Given the description of an element on the screen output the (x, y) to click on. 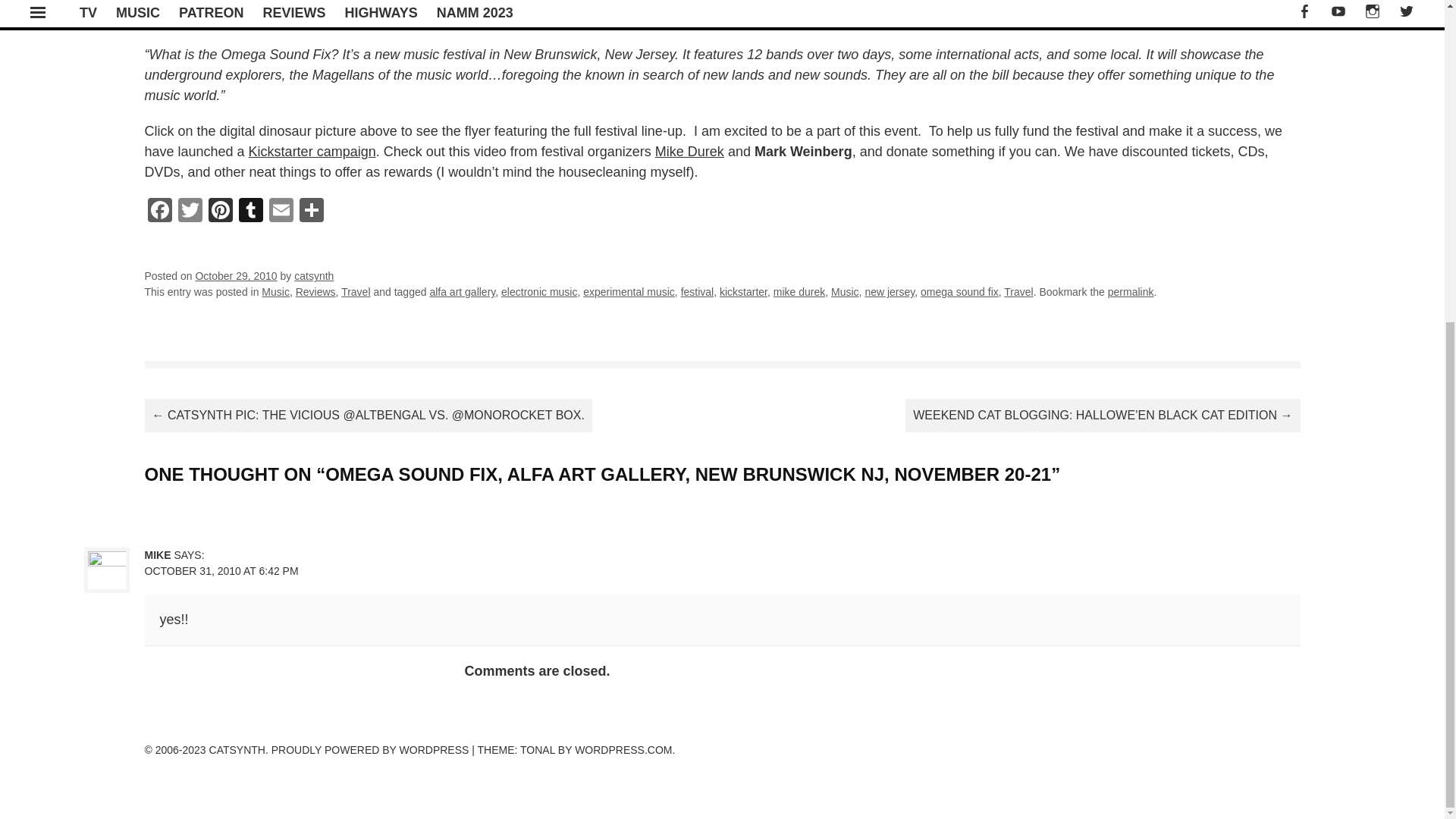
Pinterest (219, 212)
Facebook (159, 212)
Email (279, 212)
Tumblr (249, 212)
Twitter (189, 212)
